Given the description of an element on the screen output the (x, y) to click on. 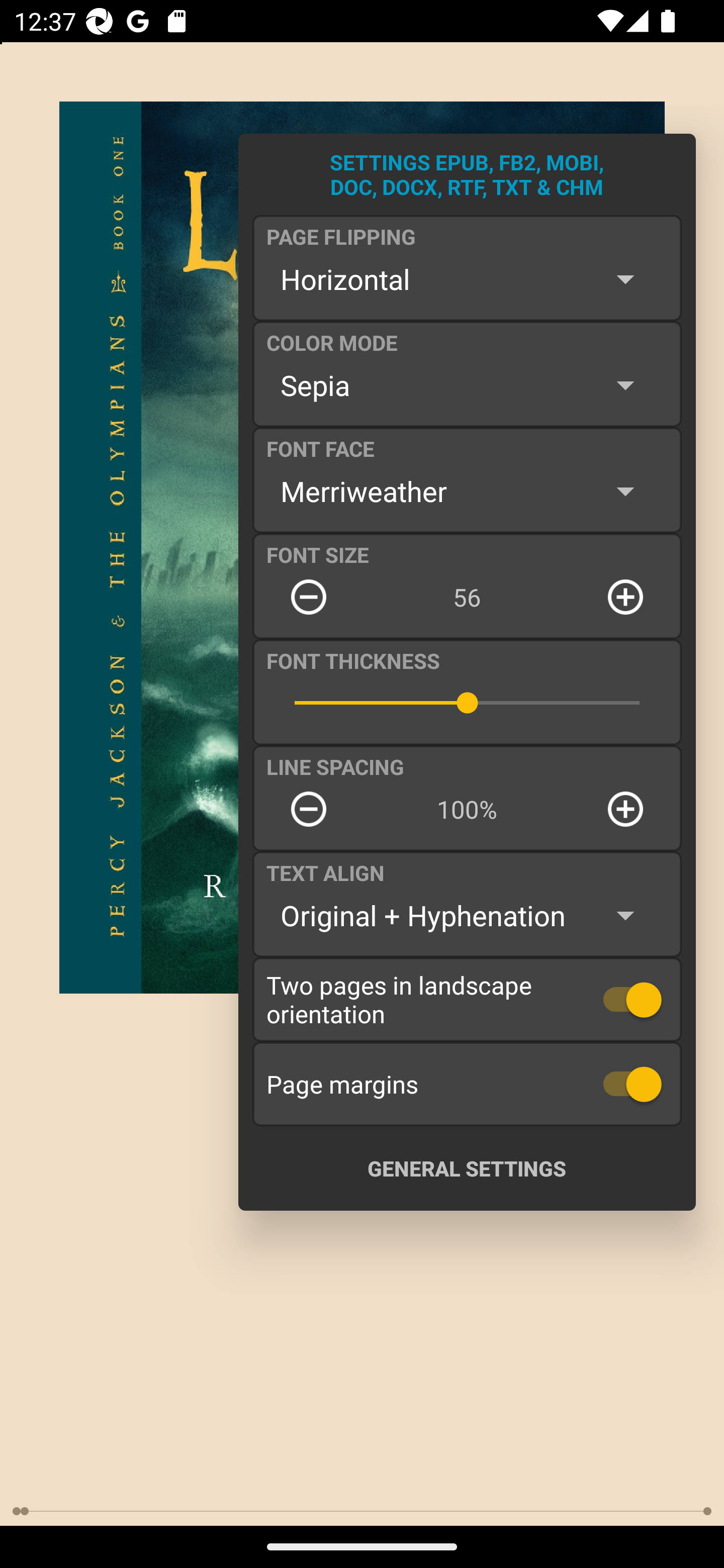
Horizontal (466, 278)
Sepia (466, 384)
Merriweather (466, 490)
Original + Hyphenation (466, 915)
Two pages in landscape orientation (467, 999)
Page margins (467, 1083)
GENERAL SETTINGS (466, 1167)
